Given the description of an element on the screen output the (x, y) to click on. 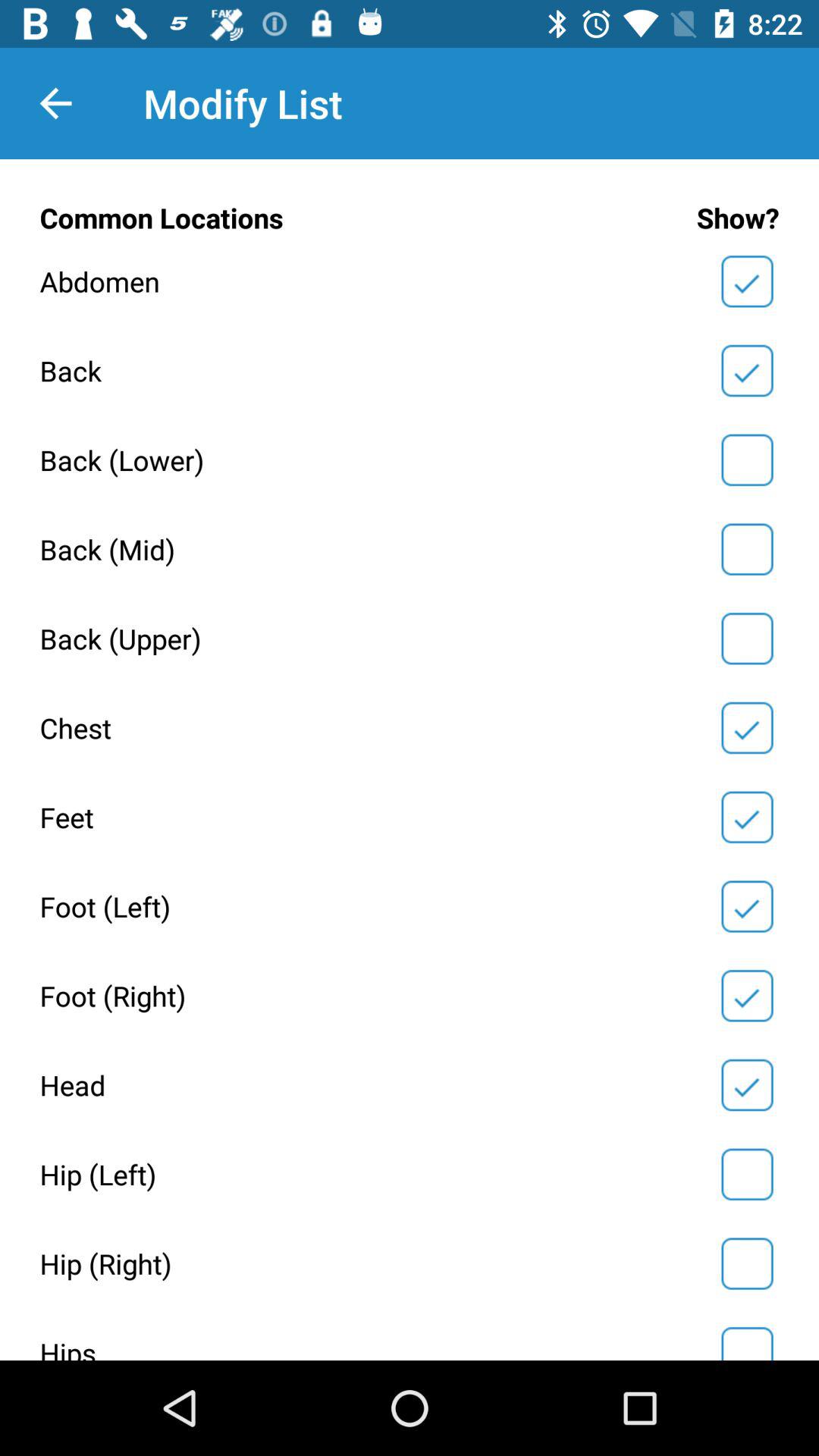
select symptom right hip (747, 1263)
